Given the description of an element on the screen output the (x, y) to click on. 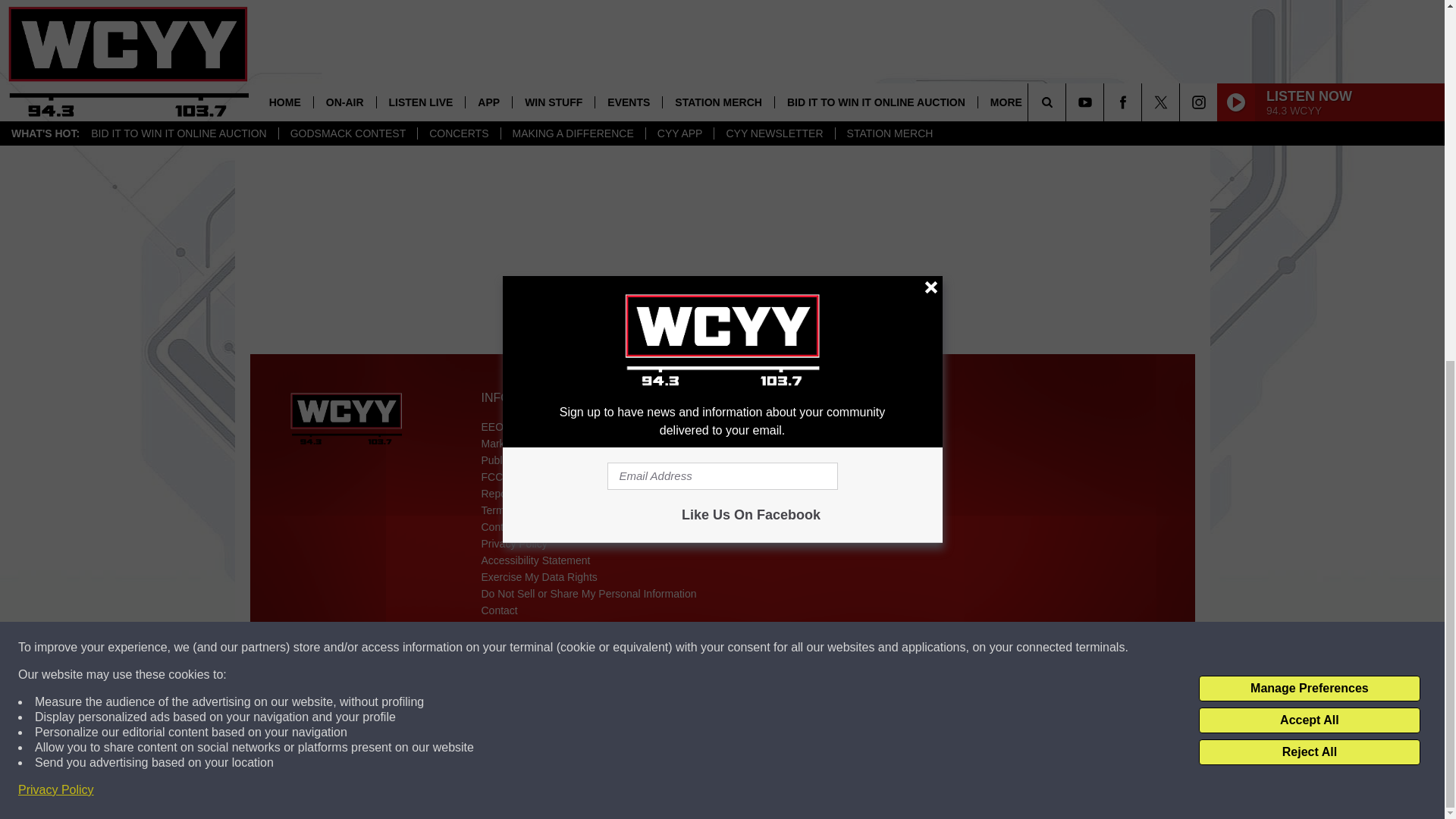
Accept All (1309, 79)
Manage Preferences (1309, 47)
Privacy Policy (55, 149)
Reject All (1309, 111)
